Given the description of an element on the screen output the (x, y) to click on. 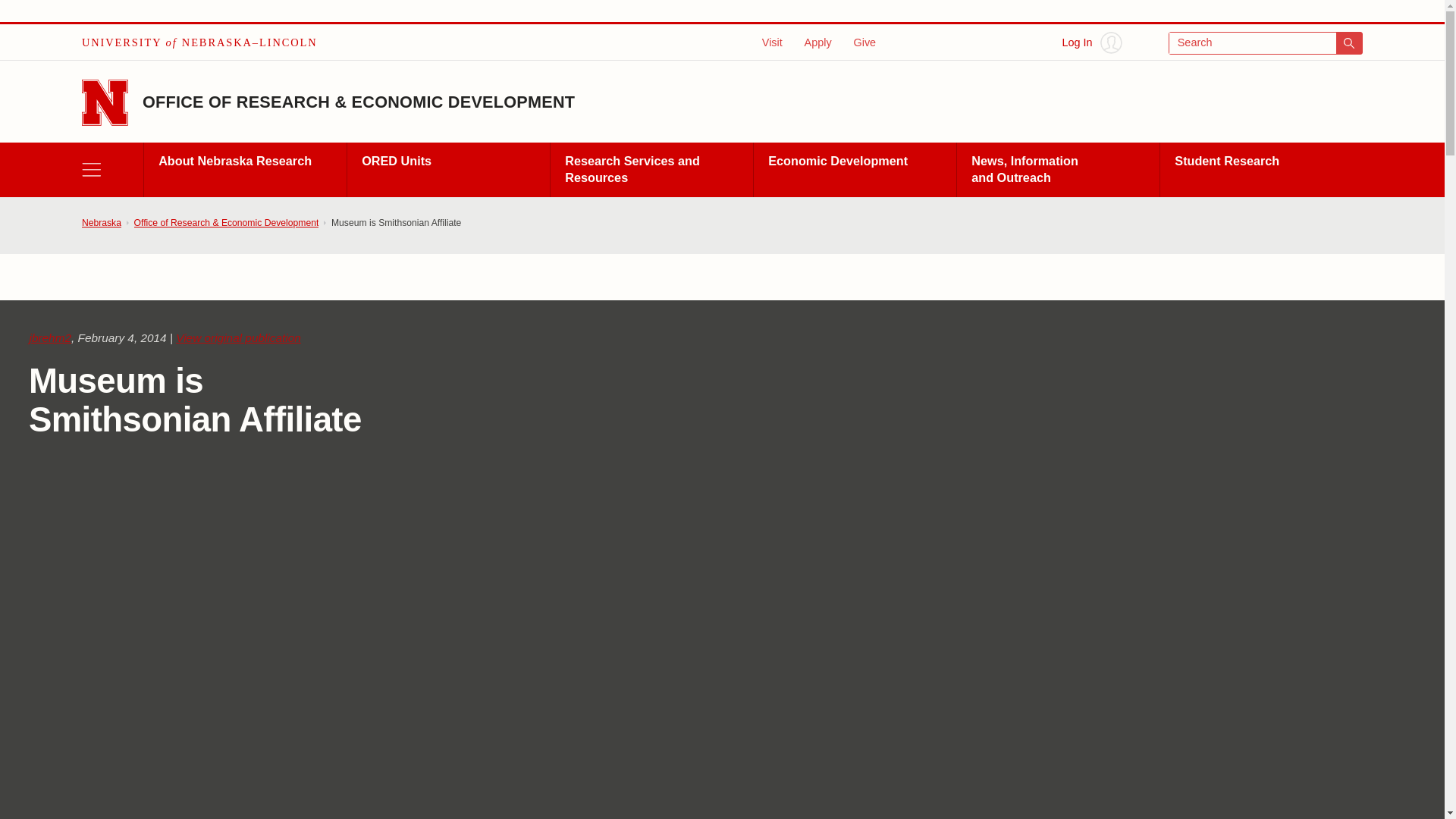
About Nebraska Research (244, 169)
ORED Units (448, 169)
Log In (1092, 42)
Give (864, 42)
Visit (772, 42)
Nebraska (100, 223)
Search (1265, 42)
Research Services and Resources (651, 169)
Apply (818, 42)
Skip to main content (19, 16)
